Given the description of an element on the screen output the (x, y) to click on. 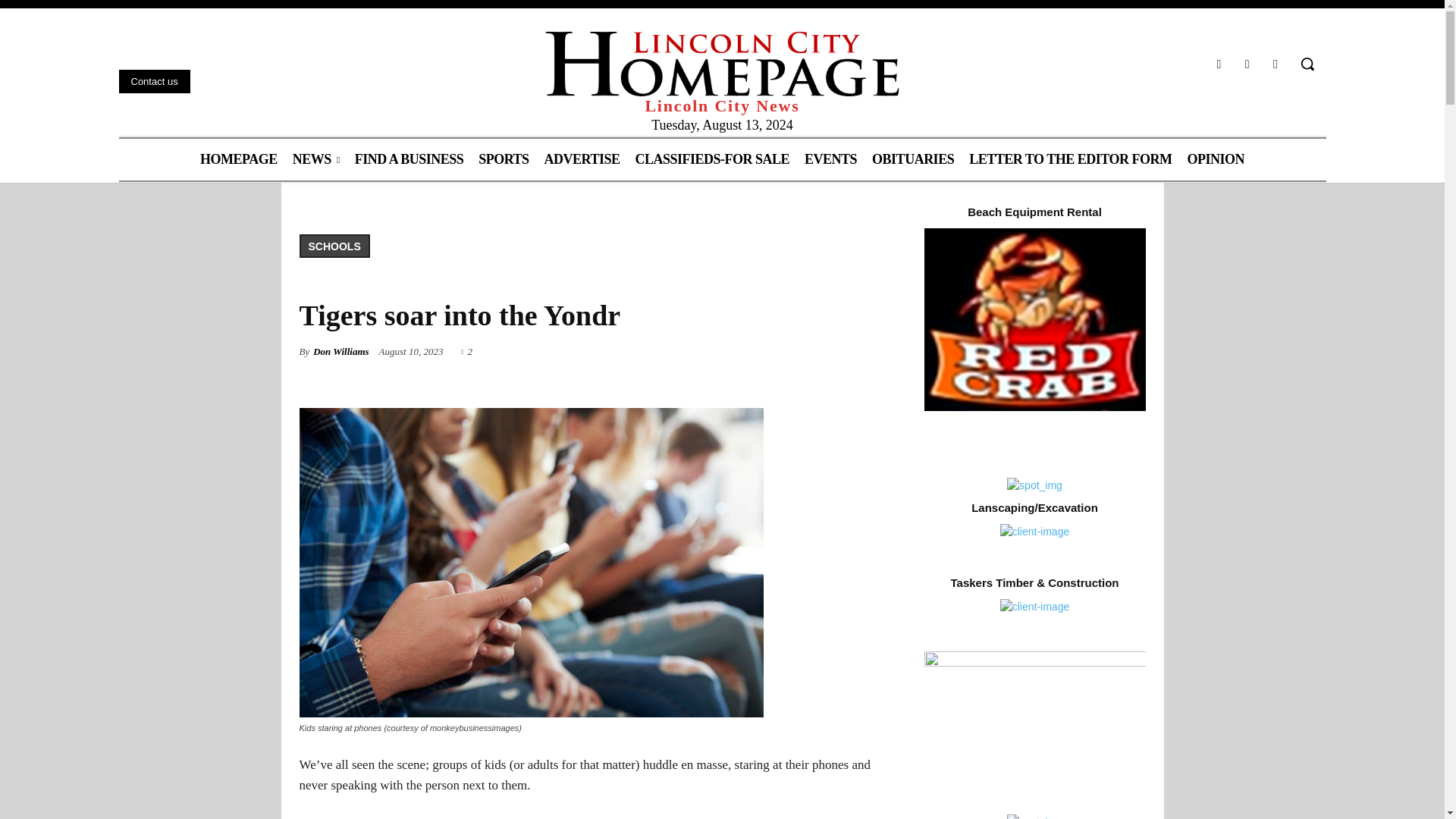
Lincoln City News (721, 72)
OBITUARIES (912, 159)
OPINION (1215, 159)
Contact us (153, 81)
HOMEPAGE (238, 159)
CLASSIFIEDS-FOR SALE (712, 159)
ADVERTISE (582, 159)
SPORTS (502, 159)
Lincoln City News (721, 72)
EVENTS (830, 159)
